Given the description of an element on the screen output the (x, y) to click on. 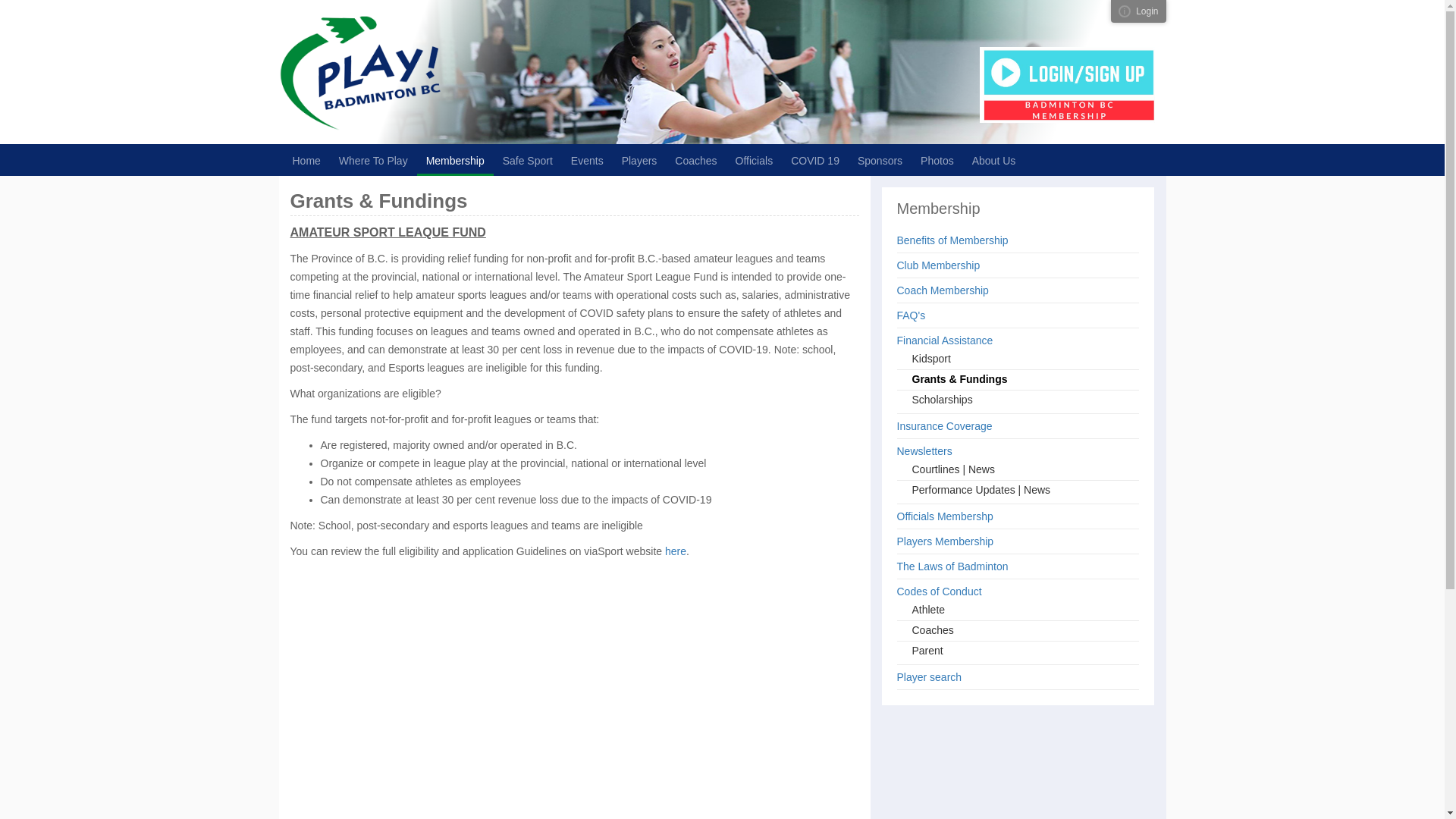
Safe Sport (527, 160)
Home (306, 160)
Badminton BC (491, 72)
Login (1146, 10)
Events (587, 160)
Visual ClubWeb (1124, 10)
Where To Play (373, 160)
Membership (454, 160)
Visual ClubWeb (1124, 10)
